Given the description of an element on the screen output the (x, y) to click on. 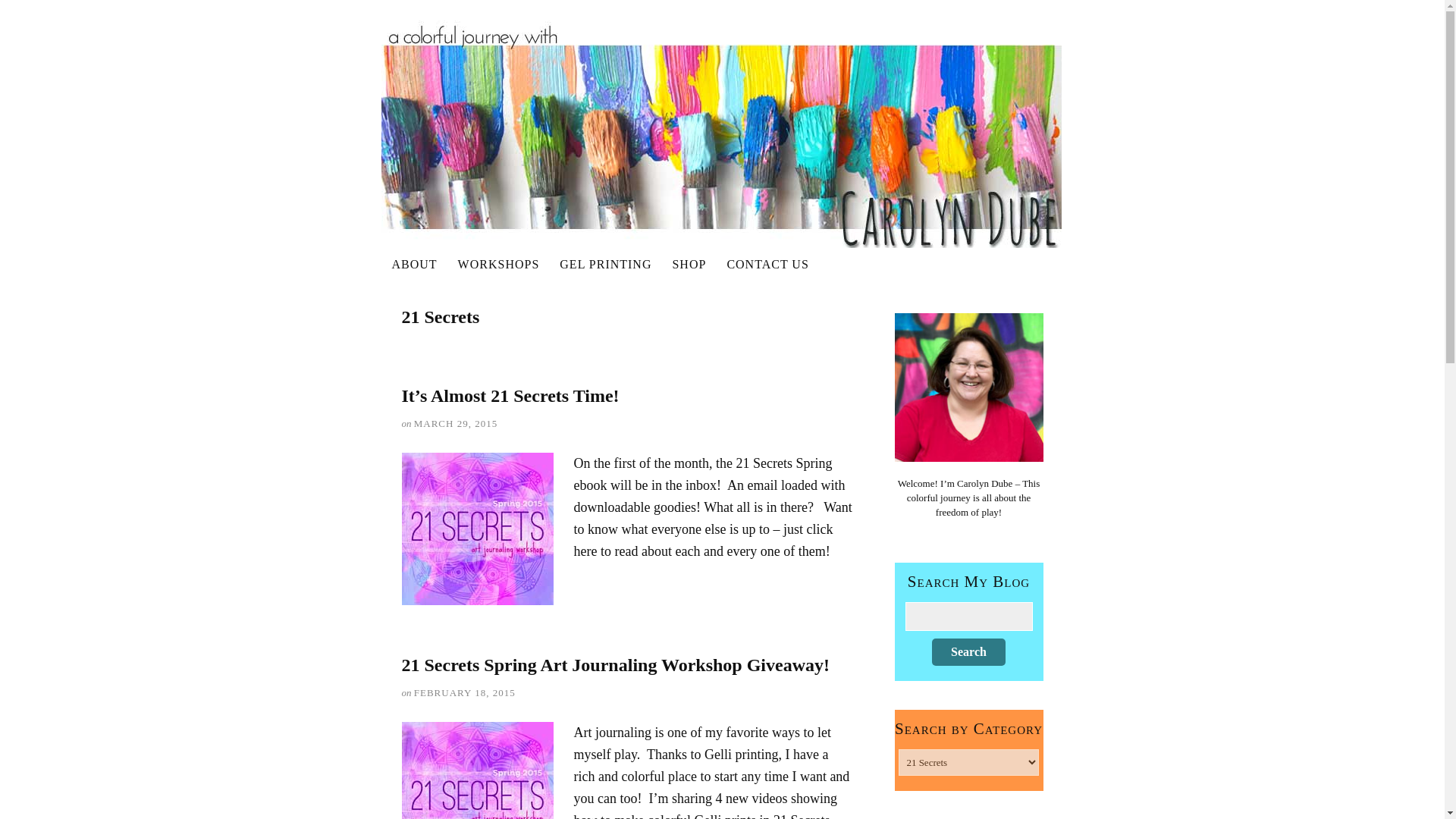
Search (968, 651)
2015-03-29 (455, 423)
SHOP (689, 264)
2015-02-18 (464, 692)
ABOUT (414, 264)
Search (968, 651)
WORKSHOPS (499, 264)
CONTACT US (767, 264)
21 Secrets Spring Art Journaling Workshop Giveaway! (615, 664)
GEL PRINTING (606, 264)
